Given the description of an element on the screen output the (x, y) to click on. 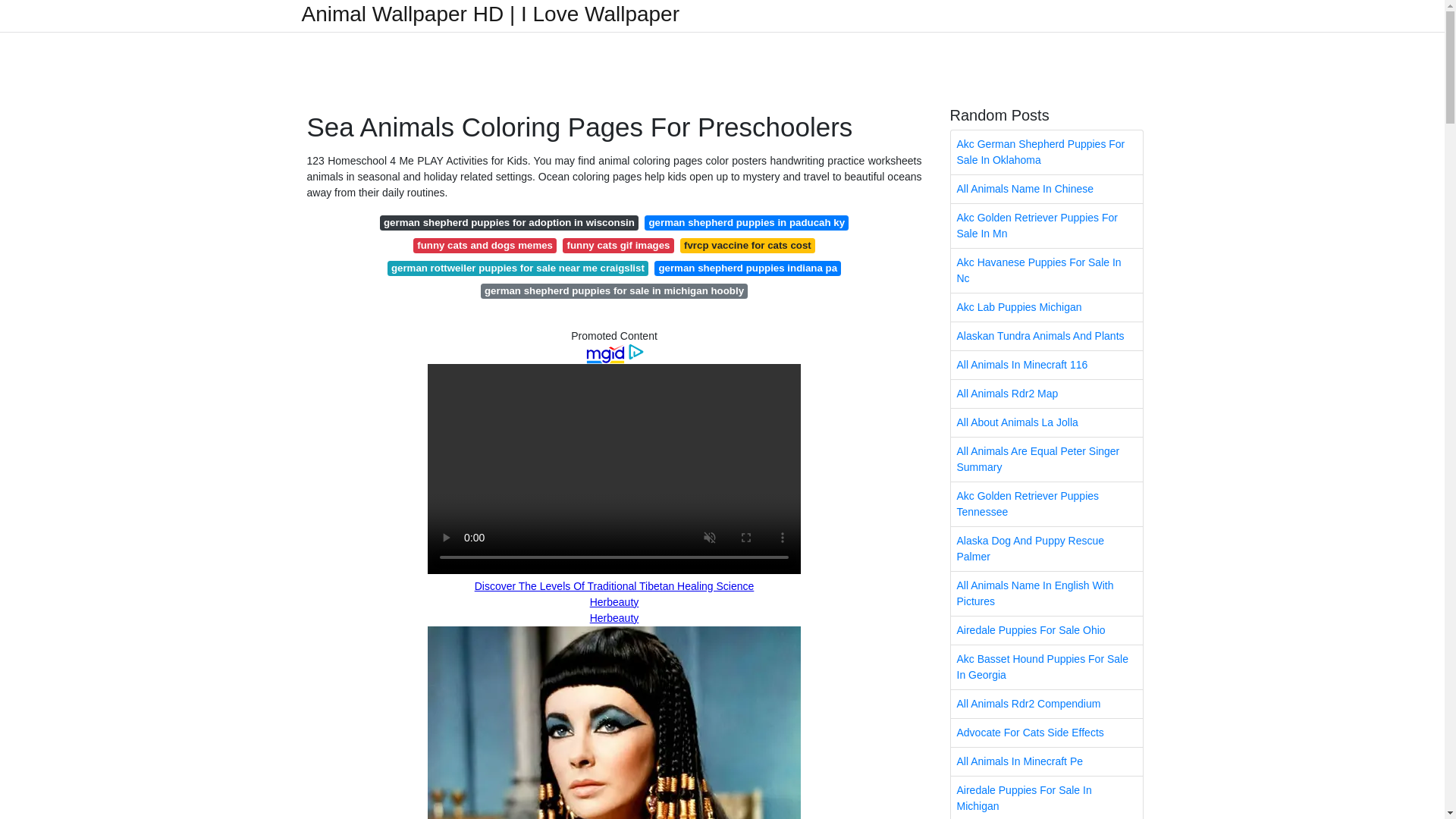
german rottweiler puppies for sale near me craigslist (518, 268)
All About Animals La Jolla (1046, 422)
All Animals Rdr2 Map (1046, 393)
funny cats and dogs memes (484, 245)
fvrcp vaccine for cats cost (747, 245)
Akc German Shepherd Puppies For Sale In Oklahoma (1046, 152)
german shepherd puppies for sale in michigan hoobly (614, 290)
Alaskan Tundra Animals And Plants (1046, 336)
All Animals In Minecraft 116 (1046, 365)
german shepherd puppies in paducah ky (746, 222)
Akc Havanese Puppies For Sale In Nc (1046, 270)
All Animals Name In Chinese (1046, 189)
Akc Lab Puppies Michigan (1046, 307)
Akc Golden Retriever Puppies For Sale In Mn (1046, 225)
funny cats gif images (618, 245)
